Given the description of an element on the screen output the (x, y) to click on. 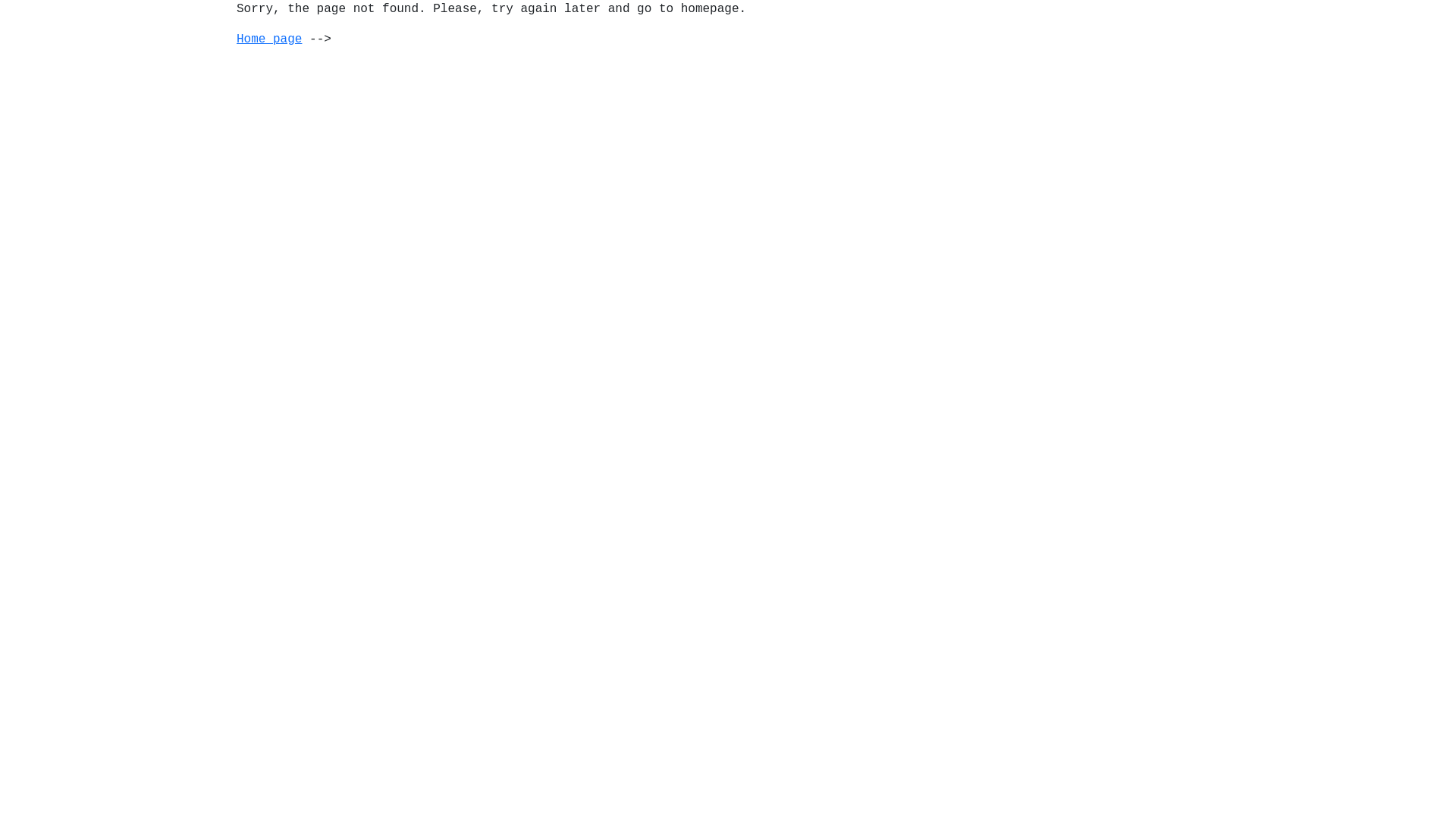
Home page Element type: text (268, 39)
